Given the description of an element on the screen output the (x, y) to click on. 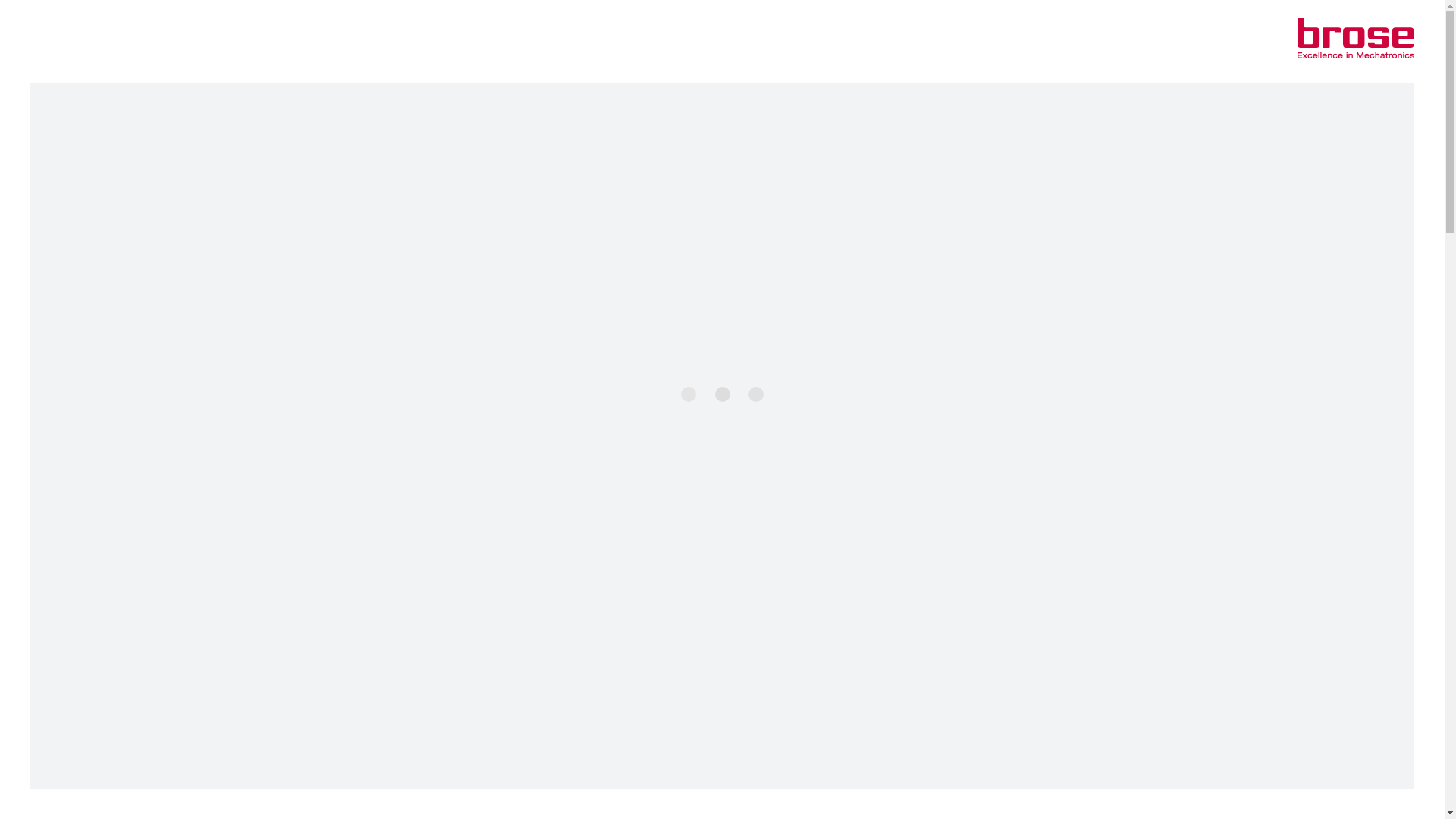
Professionals (88, 68)
Students and Alumni (218, 68)
Jobs (39, 68)
Company (68, 43)
Recruitment (414, 68)
Specialist (145, 68)
Training and Development (325, 68)
Products (318, 43)
Careers (409, 43)
